Given the description of an element on the screen output the (x, y) to click on. 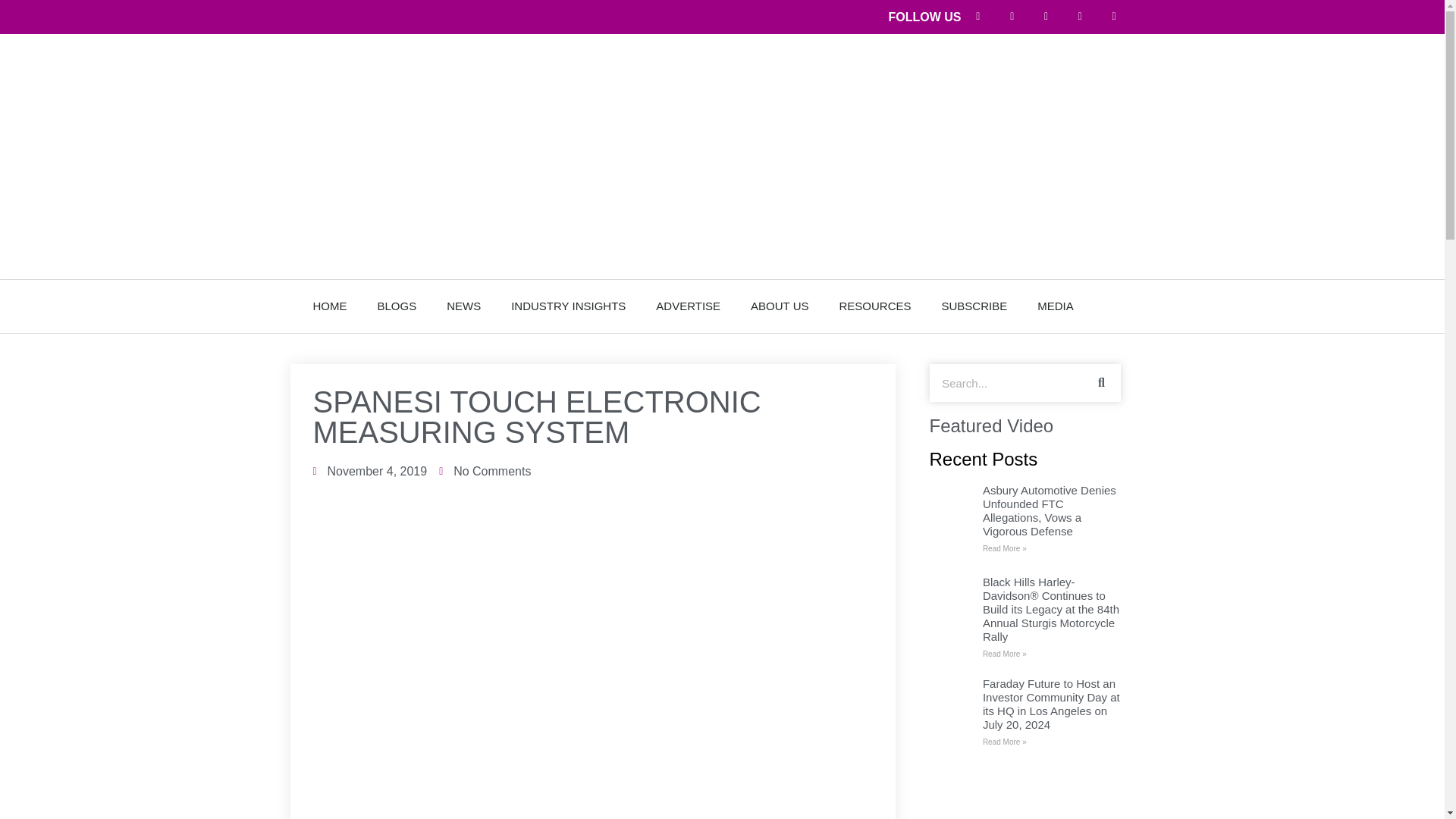
INDUSTRY INSIGHTS (568, 306)
BLOGS (397, 306)
RESOURCES (875, 306)
ADVERTISE (687, 306)
ABOUT US (779, 306)
SUBSCRIBE (974, 306)
HOME (329, 306)
MEDIA (1055, 306)
NEWS (463, 306)
